Given the description of an element on the screen output the (x, y) to click on. 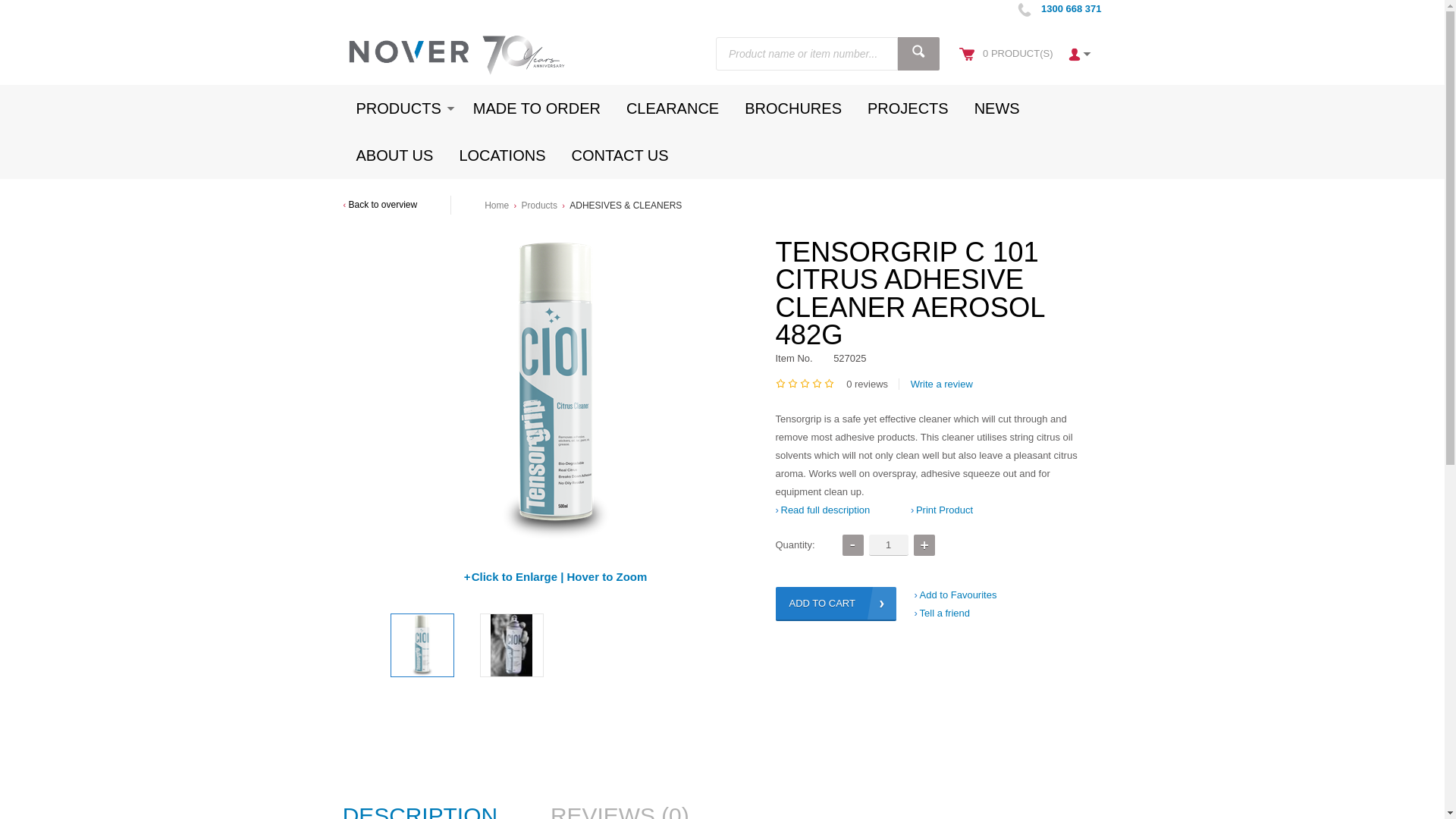
Print preview (941, 510)
1300 668 371 (1071, 8)
3.5 (817, 384)
1.5 (793, 384)
Search products (918, 52)
PRODUCTS (401, 108)
4.5 (829, 384)
2.5 (804, 384)
Write a review (935, 383)
1 (888, 544)
0.5 (780, 384)
